Given the description of an element on the screen output the (x, y) to click on. 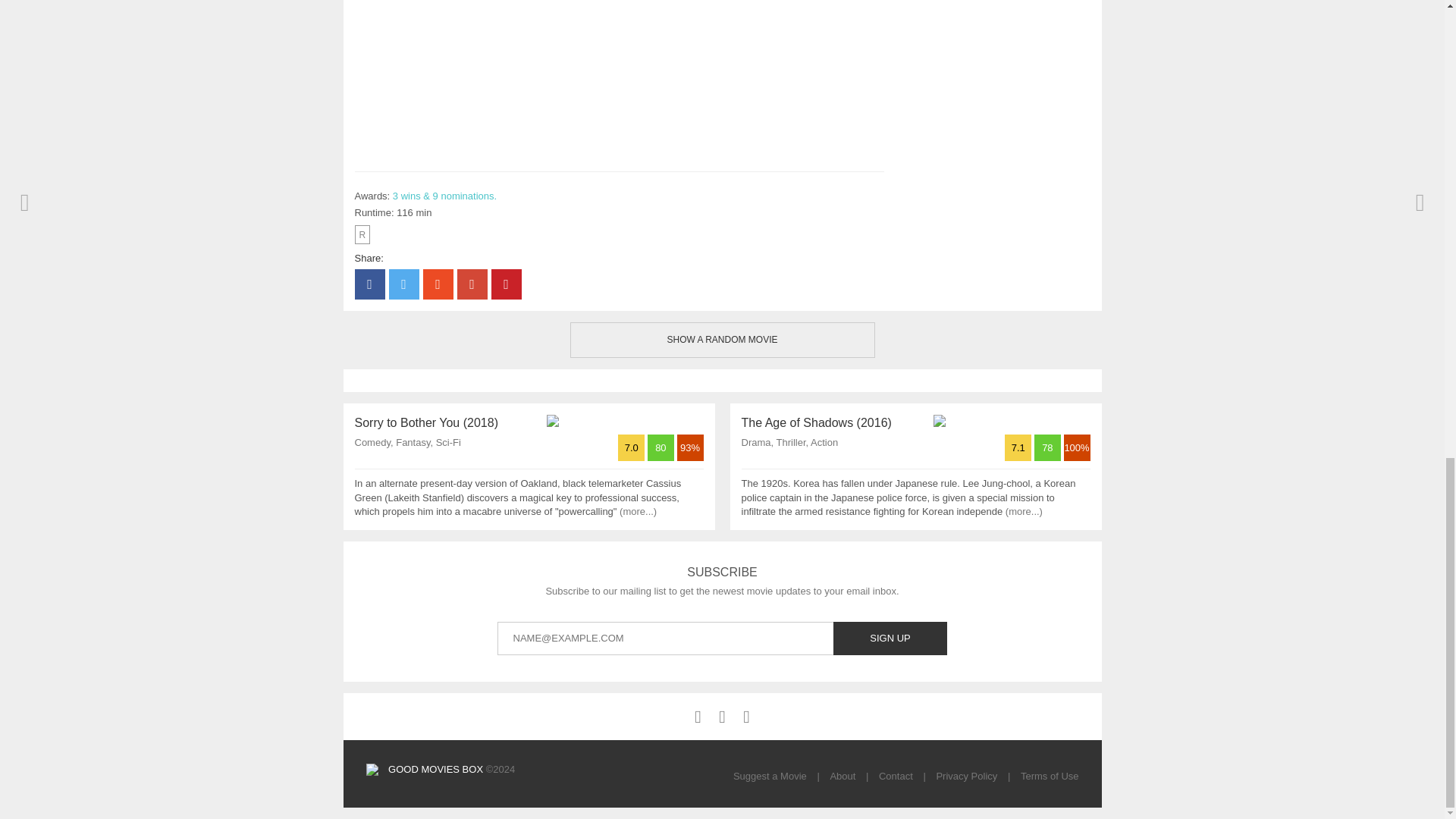
IMDb Rating (632, 447)
IMDb Rating (1018, 447)
Metascore (1048, 447)
Metascore (662, 447)
Rotten Tomatoes Critics Score (1075, 447)
Rotten Tomatoes Critics Score (690, 447)
SIGN UP (889, 638)
